Given the description of an element on the screen output the (x, y) to click on. 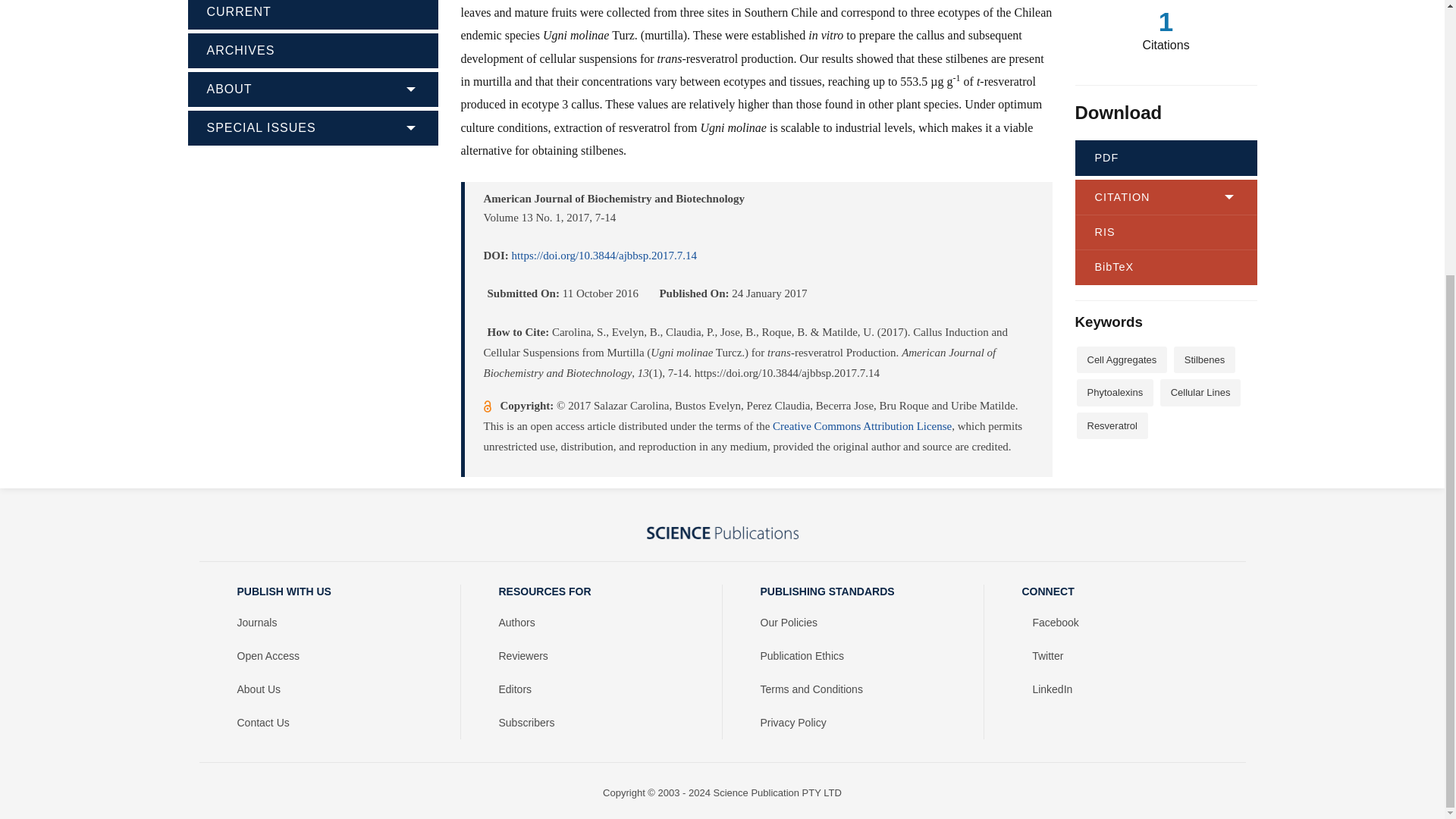
Journals (328, 622)
BibTeX (1166, 266)
Creative Commons Attribution License (862, 426)
CURRENT (312, 14)
PDF (1166, 157)
SPECIAL ISSUES (312, 126)
ABOUT (312, 87)
ARCHIVES (312, 48)
Science Publications (721, 532)
RIS (1166, 231)
CITATION (1166, 196)
